Given the description of an element on the screen output the (x, y) to click on. 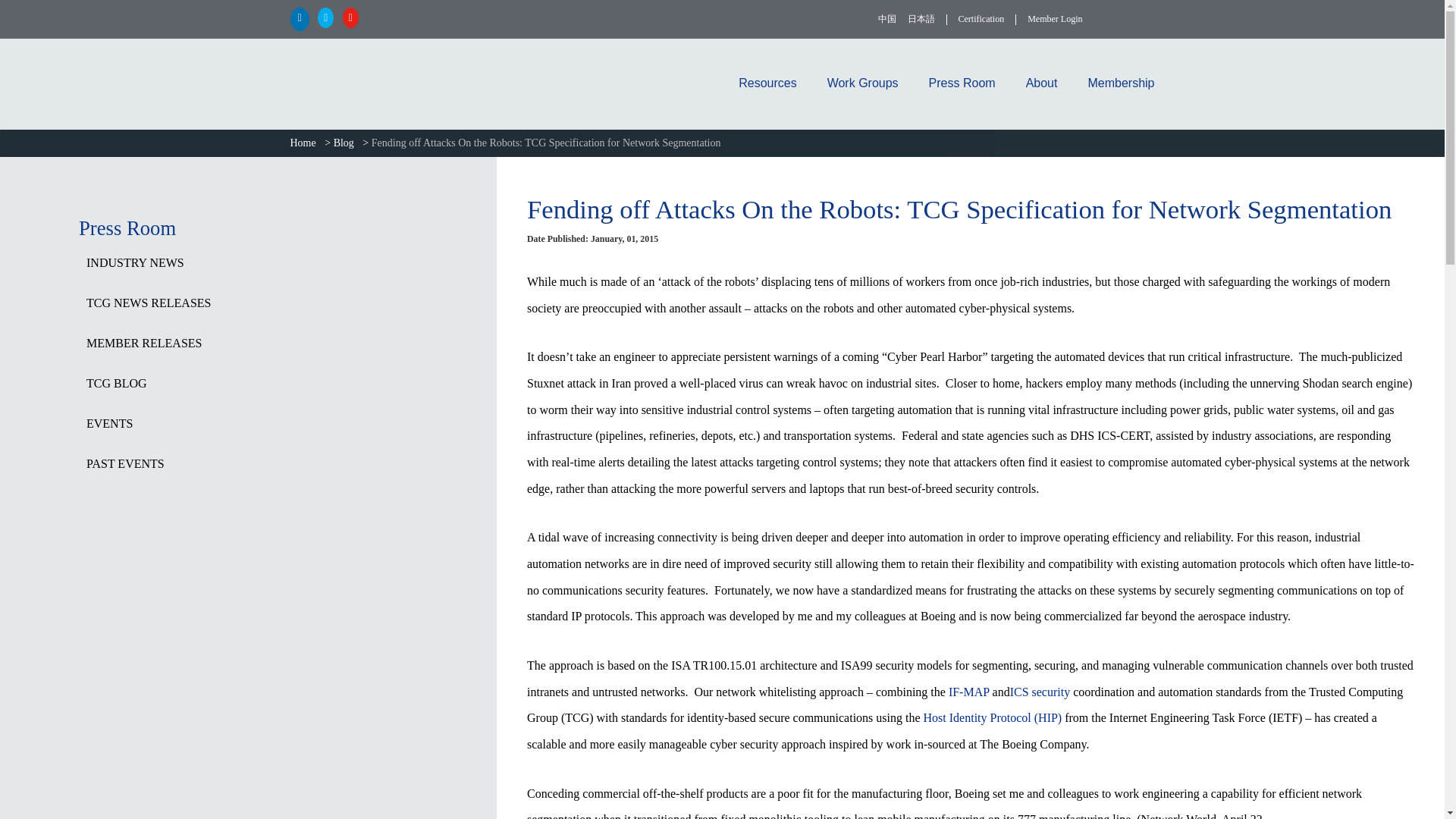
Go to Trusted Computing Group. (305, 142)
Go to the Blog category archives. (346, 142)
Resources (766, 83)
Work Groups (863, 83)
Certification (981, 18)
Member Login (1054, 18)
